Given the description of an element on the screen output the (x, y) to click on. 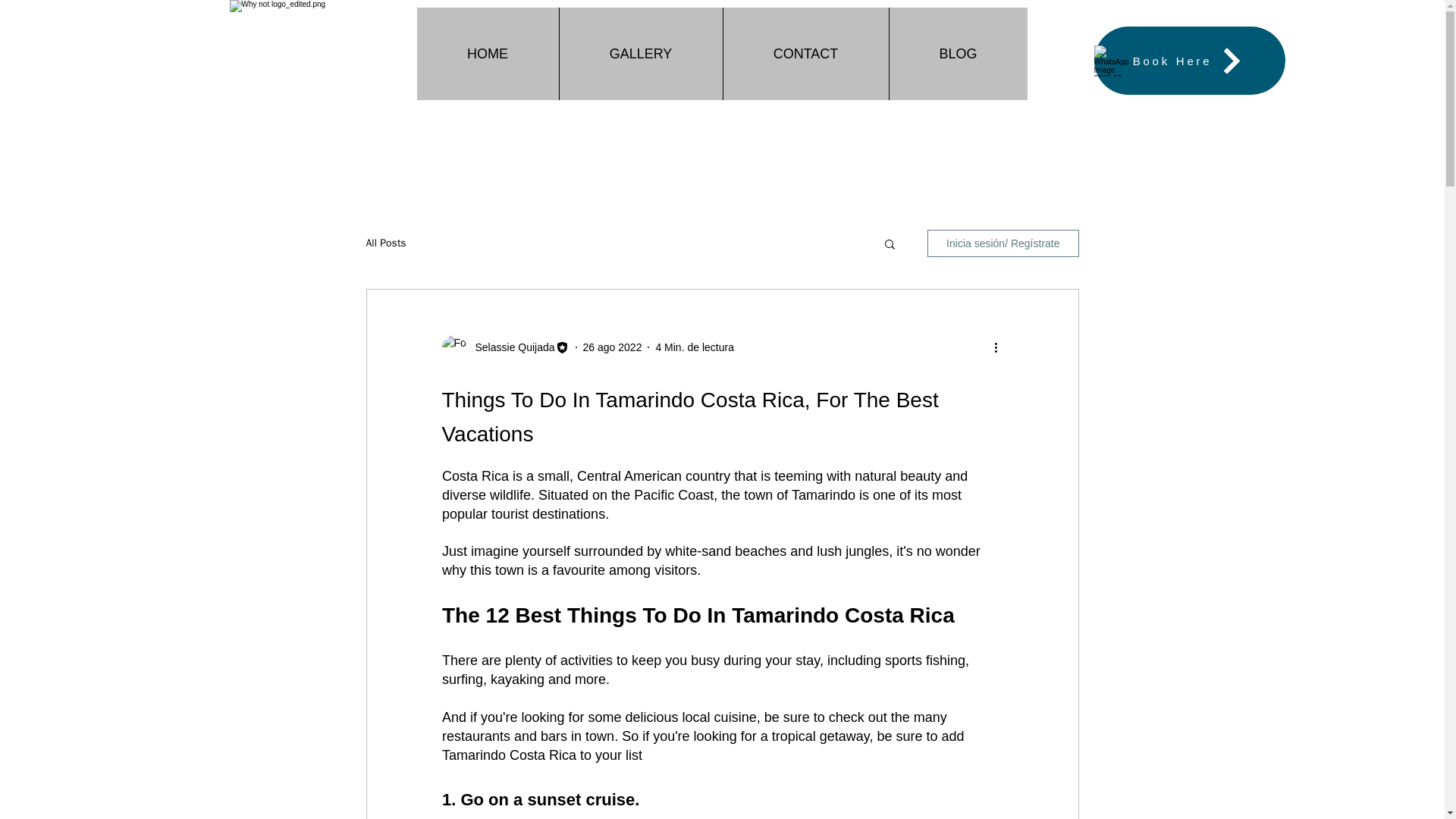
HOME (487, 53)
All Posts (385, 243)
Book Here (1188, 60)
4 Min. de lectura (694, 346)
GALLERY (639, 53)
Selassie Quijada (509, 347)
CONTACT (805, 53)
BLOG (957, 53)
26 ago 2022 (612, 346)
